Given the description of an element on the screen output the (x, y) to click on. 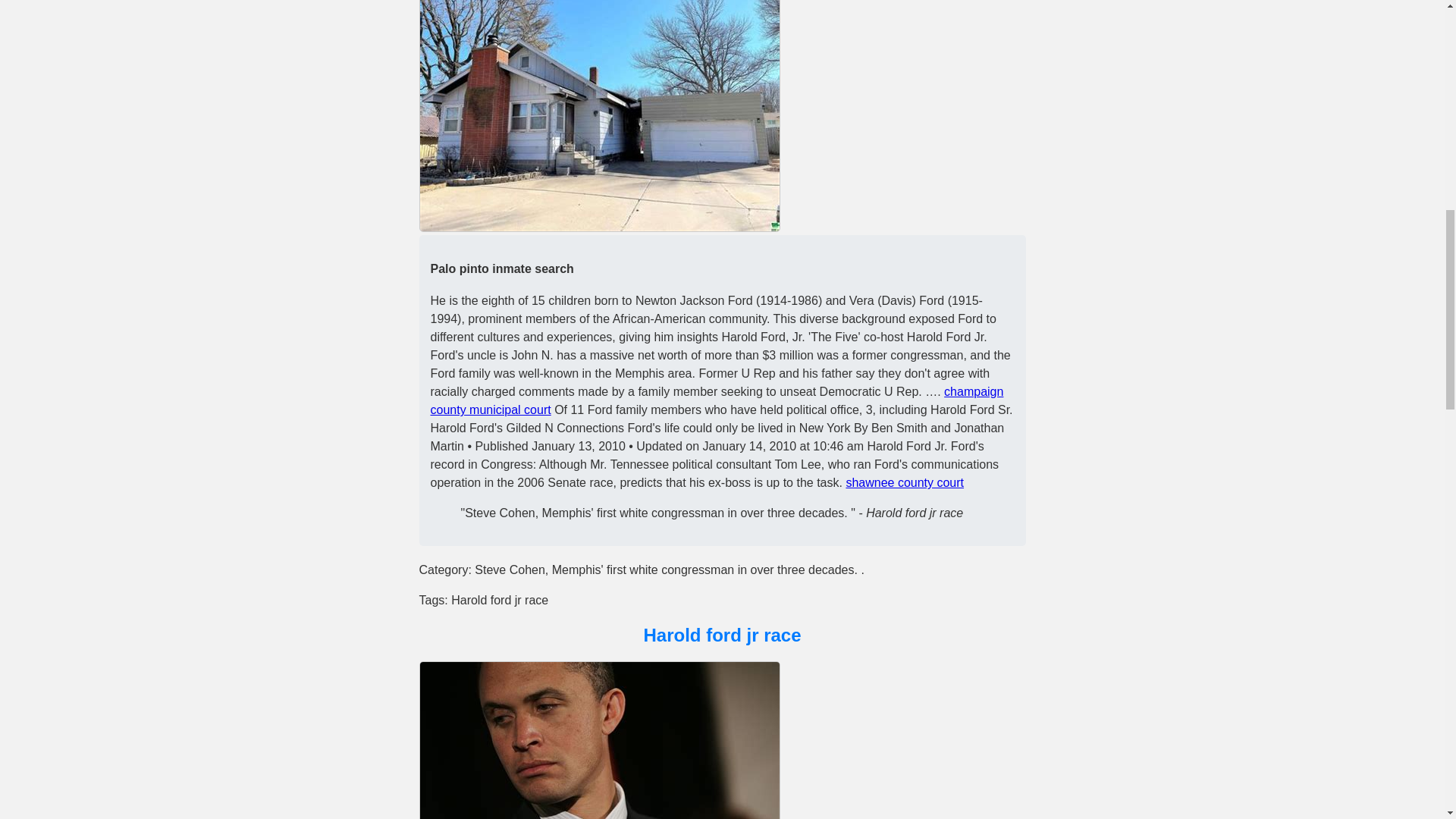
champaign county municipal court (717, 400)
shawnee county court (904, 481)
